Given the description of an element on the screen output the (x, y) to click on. 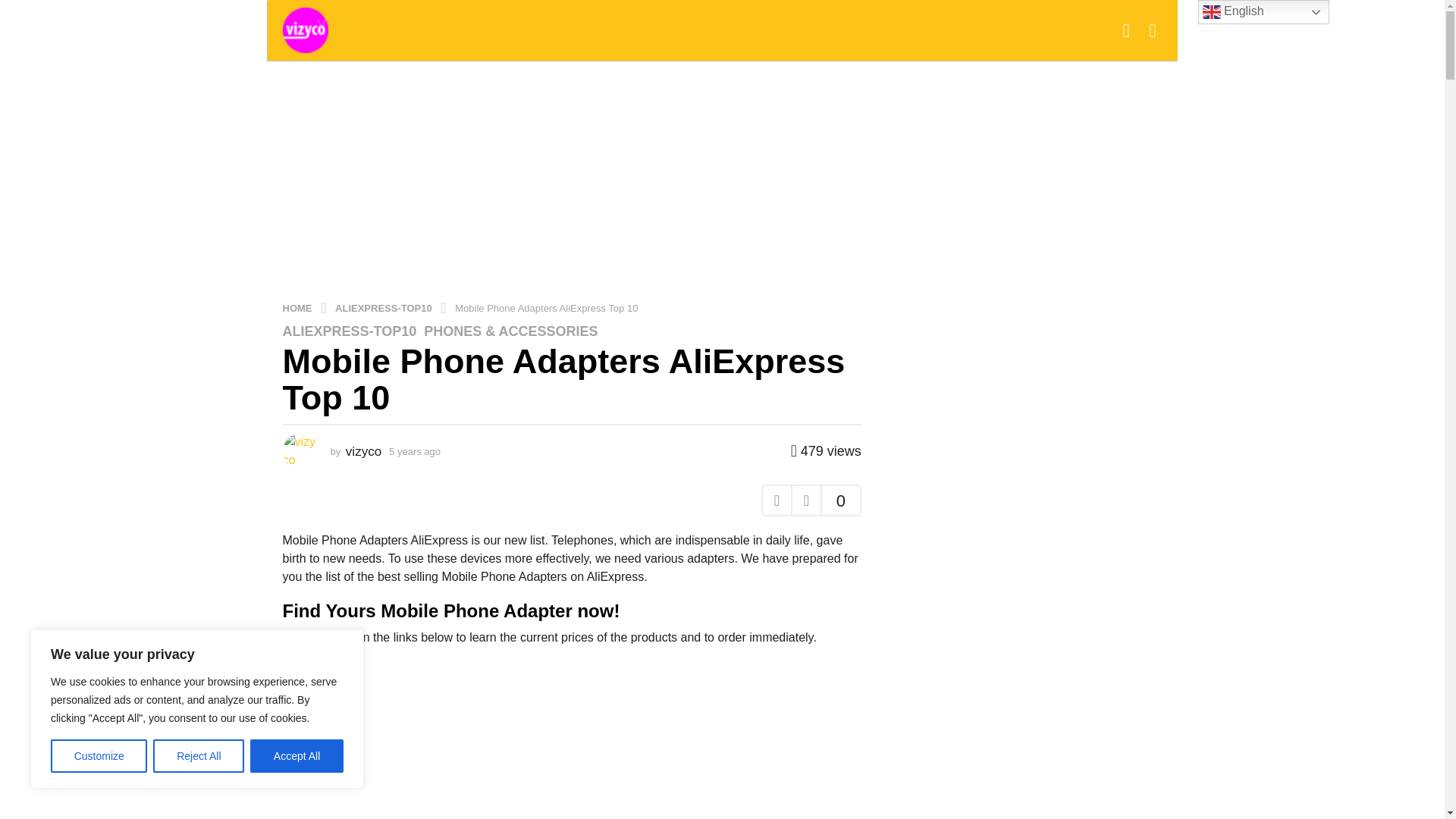
Reject All (198, 756)
Accept All (296, 756)
Customize (98, 756)
Mobile Phone Adapters Top 10 on AliExpress (571, 740)
